Given the description of an element on the screen output the (x, y) to click on. 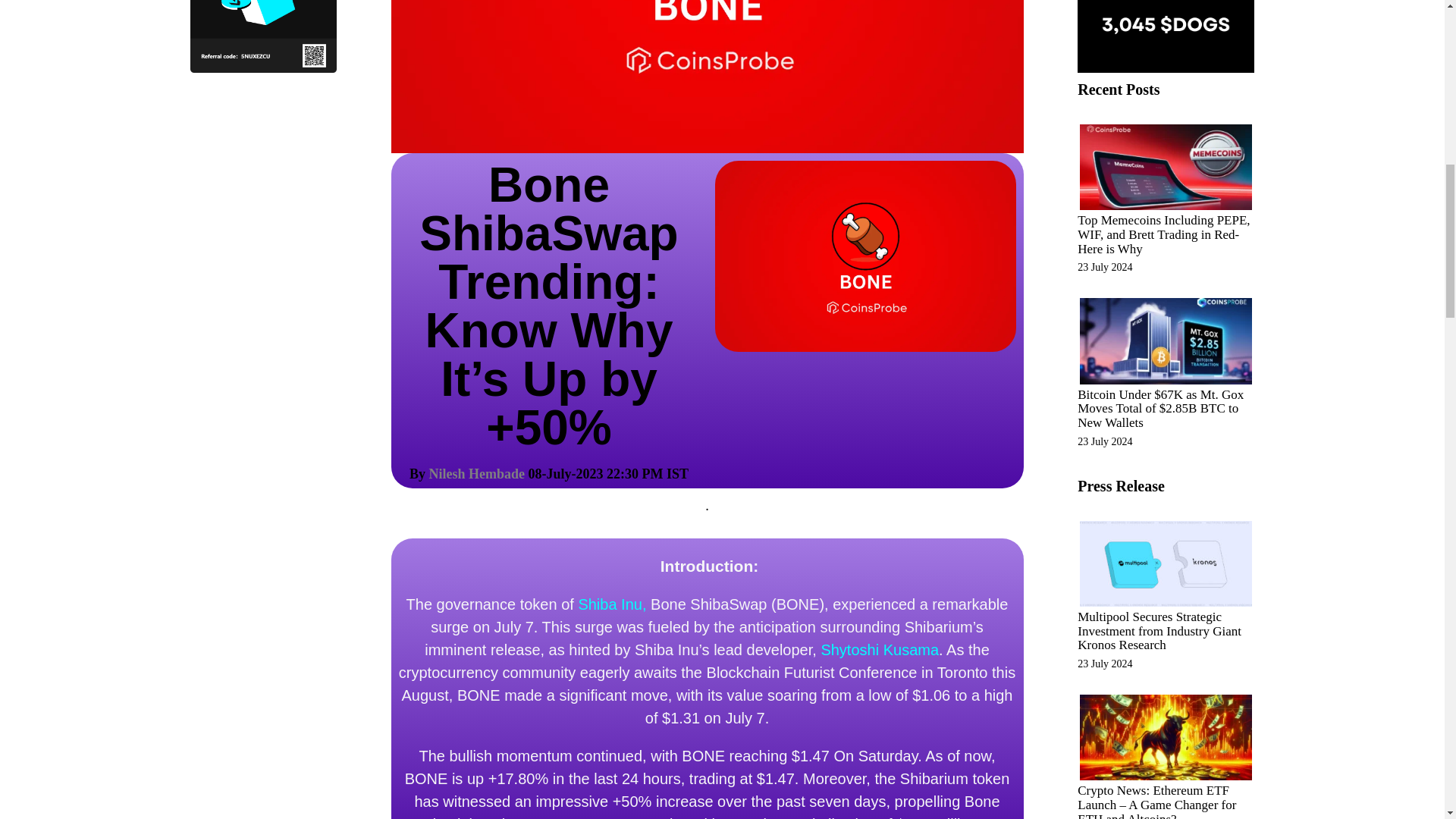
Join Airdrop (1165, 36)
